Given the description of an element on the screen output the (x, y) to click on. 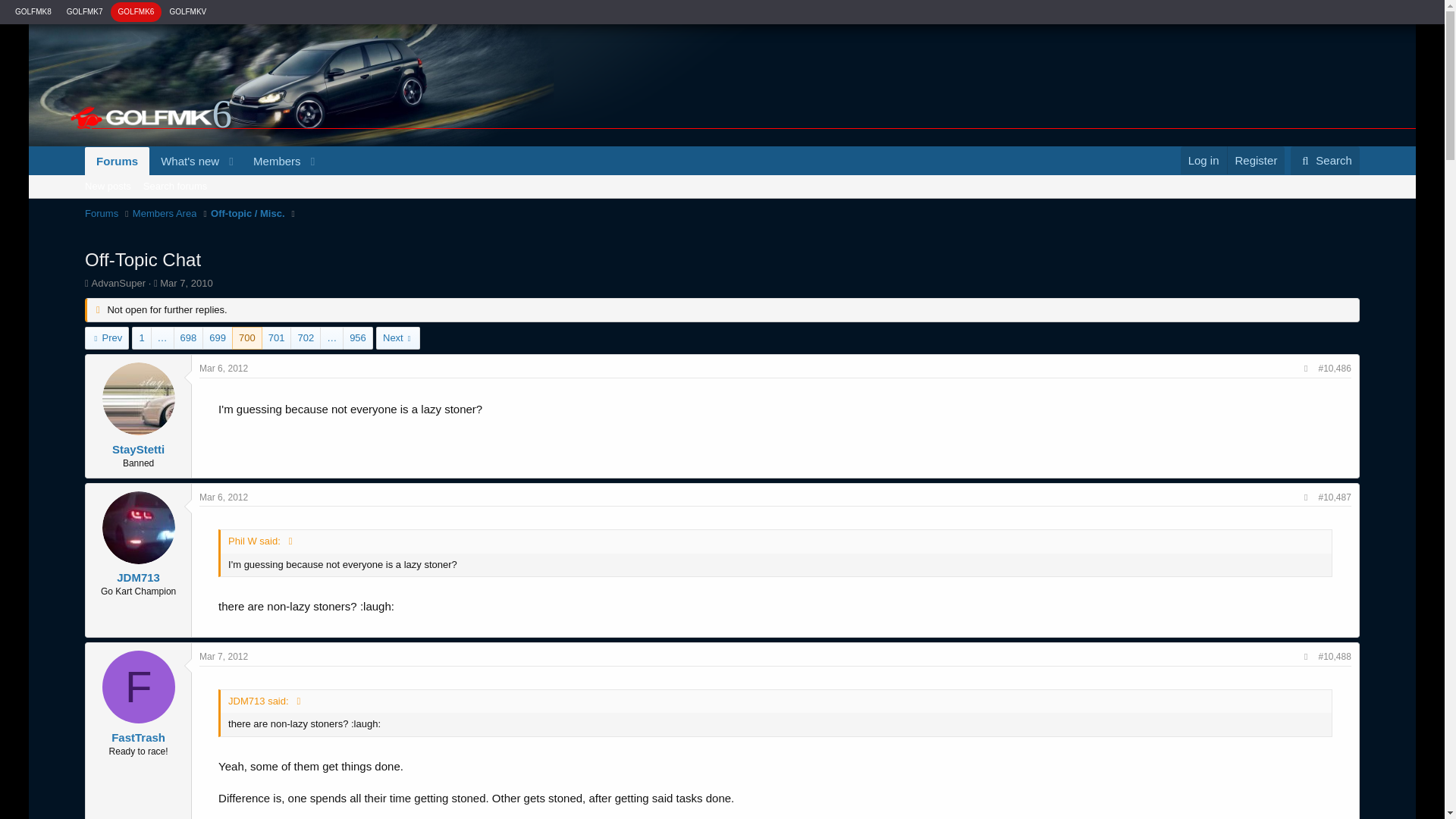
Mar 6, 2012 at 8:22 PM (223, 368)
Members (271, 161)
Mar 7, 2012 at 10:31 AM (223, 656)
Register (1256, 159)
Prev (203, 161)
Mar 6, 2012 at 8:29 PM (106, 337)
Forums (223, 497)
New posts (116, 161)
Mar 7, 2010 at 7:46 PM (107, 185)
AdvanSuper (186, 283)
Search forums (721, 202)
GOLFMK7 (117, 283)
GOLFMKV (175, 185)
